Given the description of an element on the screen output the (x, y) to click on. 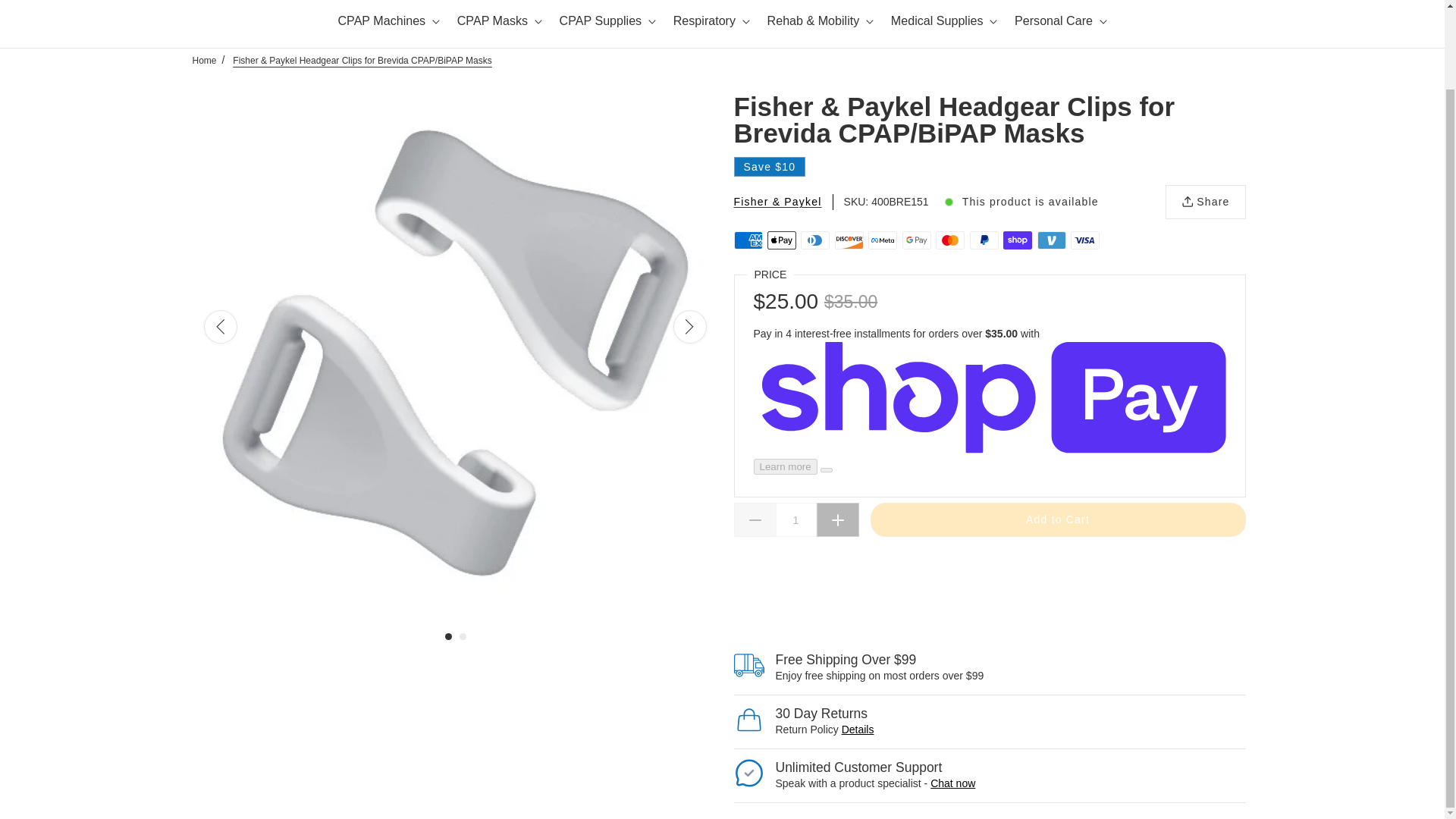
Mastercard (949, 239)
Visa (1084, 239)
CPAP Supplies (607, 23)
Diners Club (814, 239)
Venmo (1050, 239)
American Express (747, 239)
CPAP Machines (387, 23)
Google Pay (916, 239)
Shop Pay (1017, 239)
Discover (848, 239)
1 (794, 519)
Apple Pay (781, 239)
PayPal (983, 239)
Meta Pay (881, 239)
CPAP Masks (500, 23)
